Given the description of an element on the screen output the (x, y) to click on. 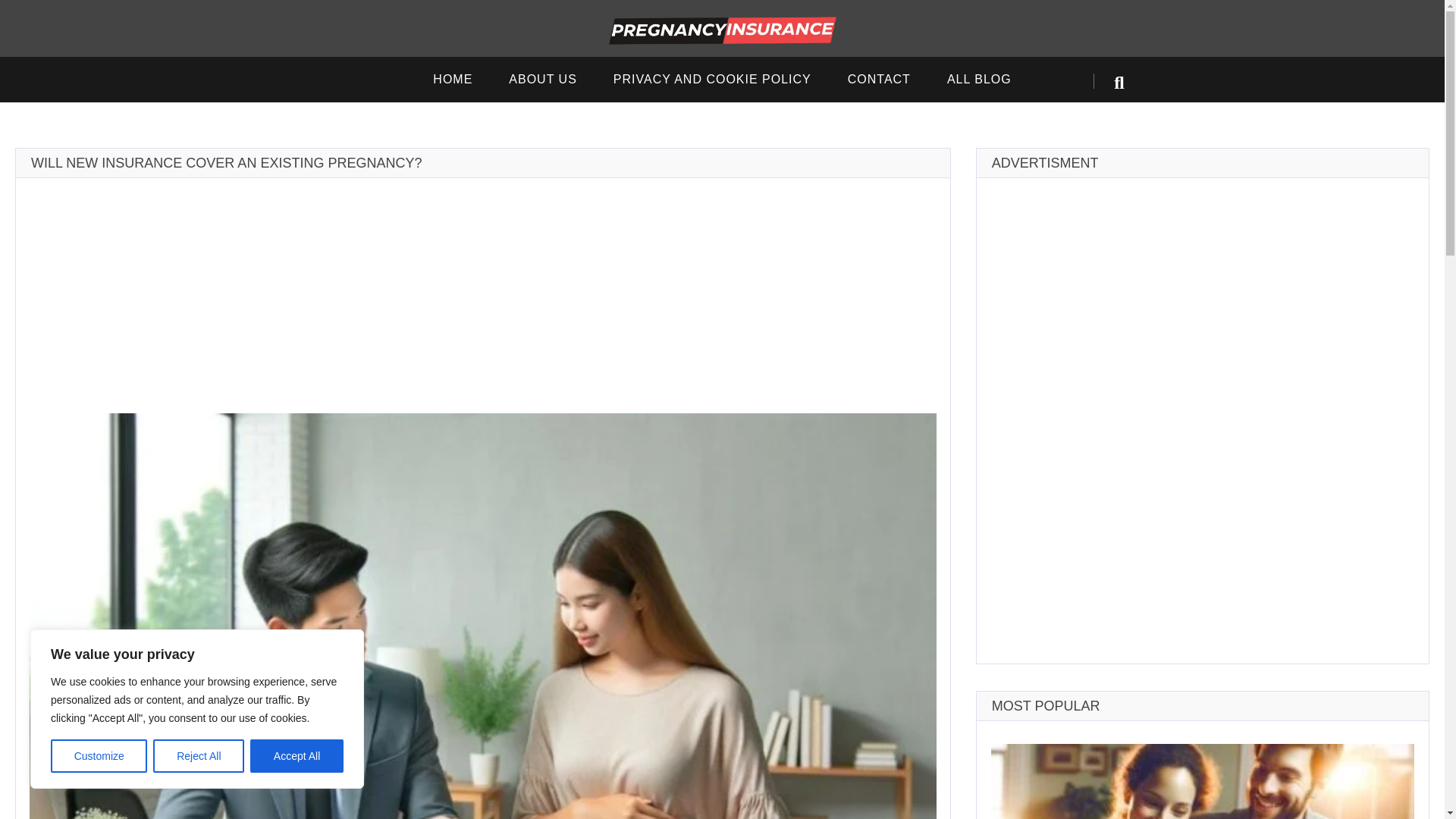
CONTACT (878, 79)
Reject All (198, 756)
Customize (98, 756)
HOME (452, 79)
ALL BLOG (978, 79)
PRIVACY AND COOKIE POLICY (712, 79)
Accept All (296, 756)
ABOUT US (542, 79)
